Given the description of an element on the screen output the (x, y) to click on. 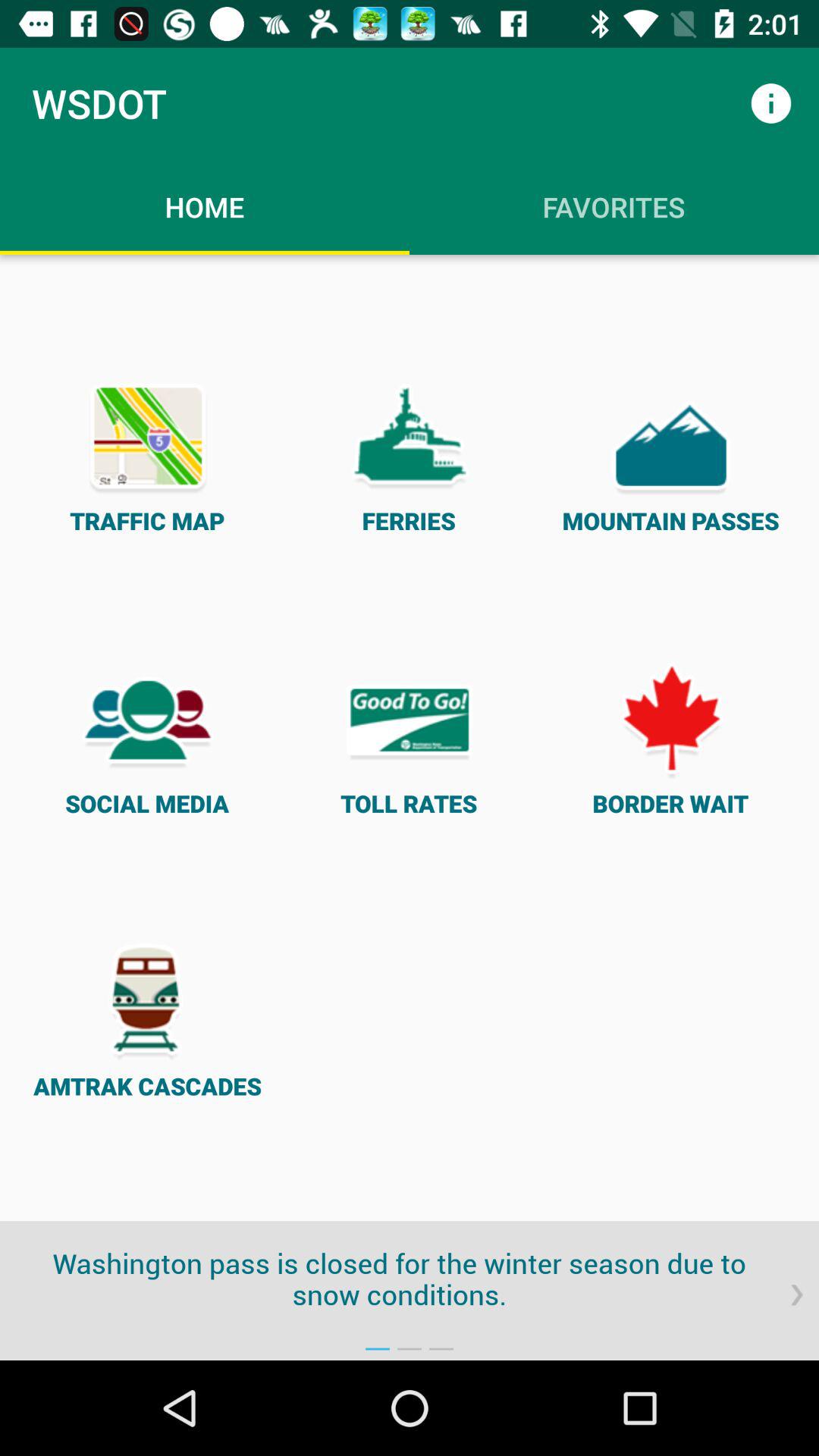
select the icon on the left (147, 737)
